Given the description of an element on the screen output the (x, y) to click on. 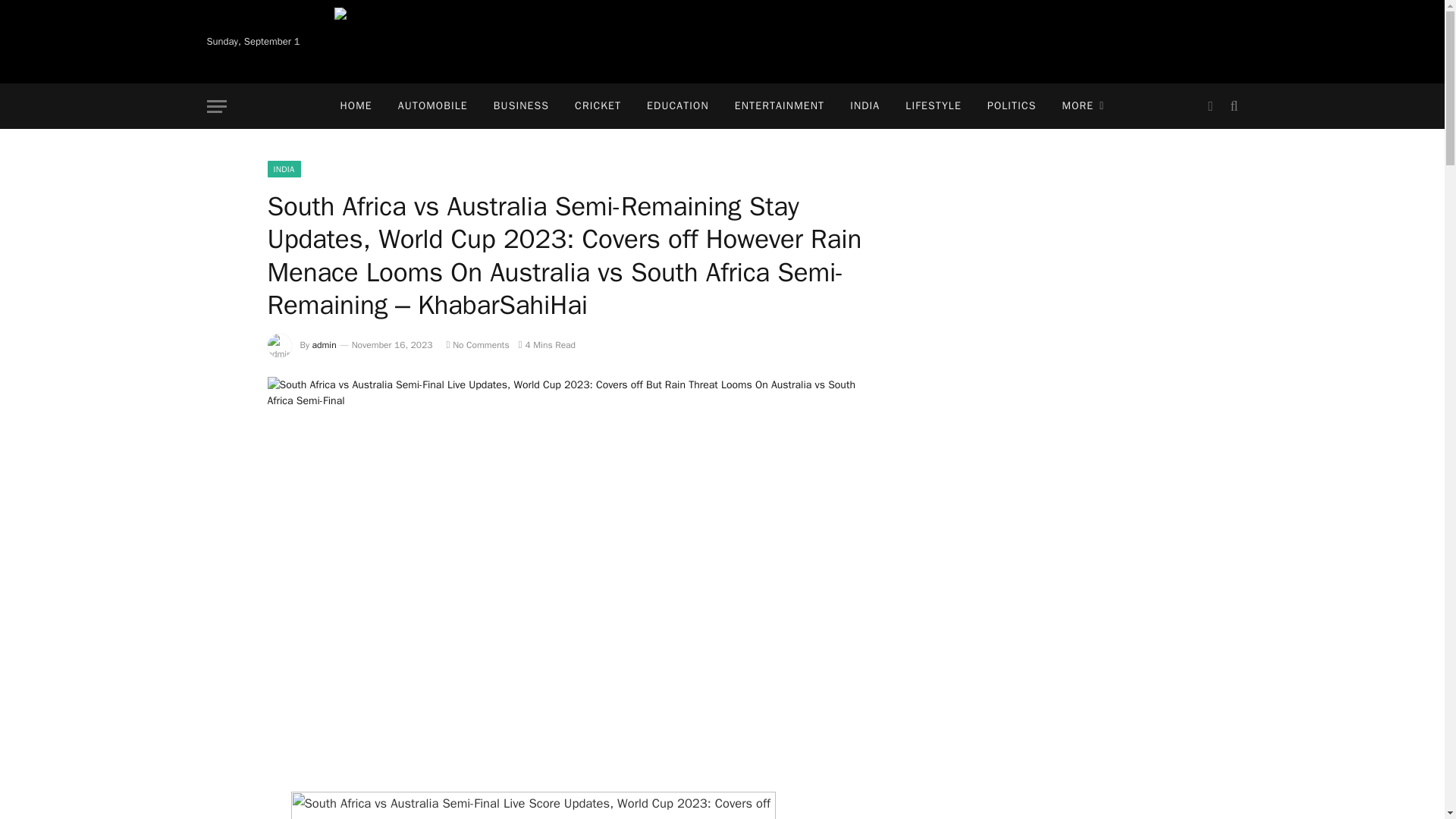
HOME (356, 105)
MORE (1083, 105)
AUTOMOBILE (432, 105)
INDIA (864, 105)
BUSINESS (521, 105)
Posts by admin (324, 345)
ENTERTAINMENT (779, 105)
INDIA (282, 168)
No Comments (476, 345)
